Given the description of an element on the screen output the (x, y) to click on. 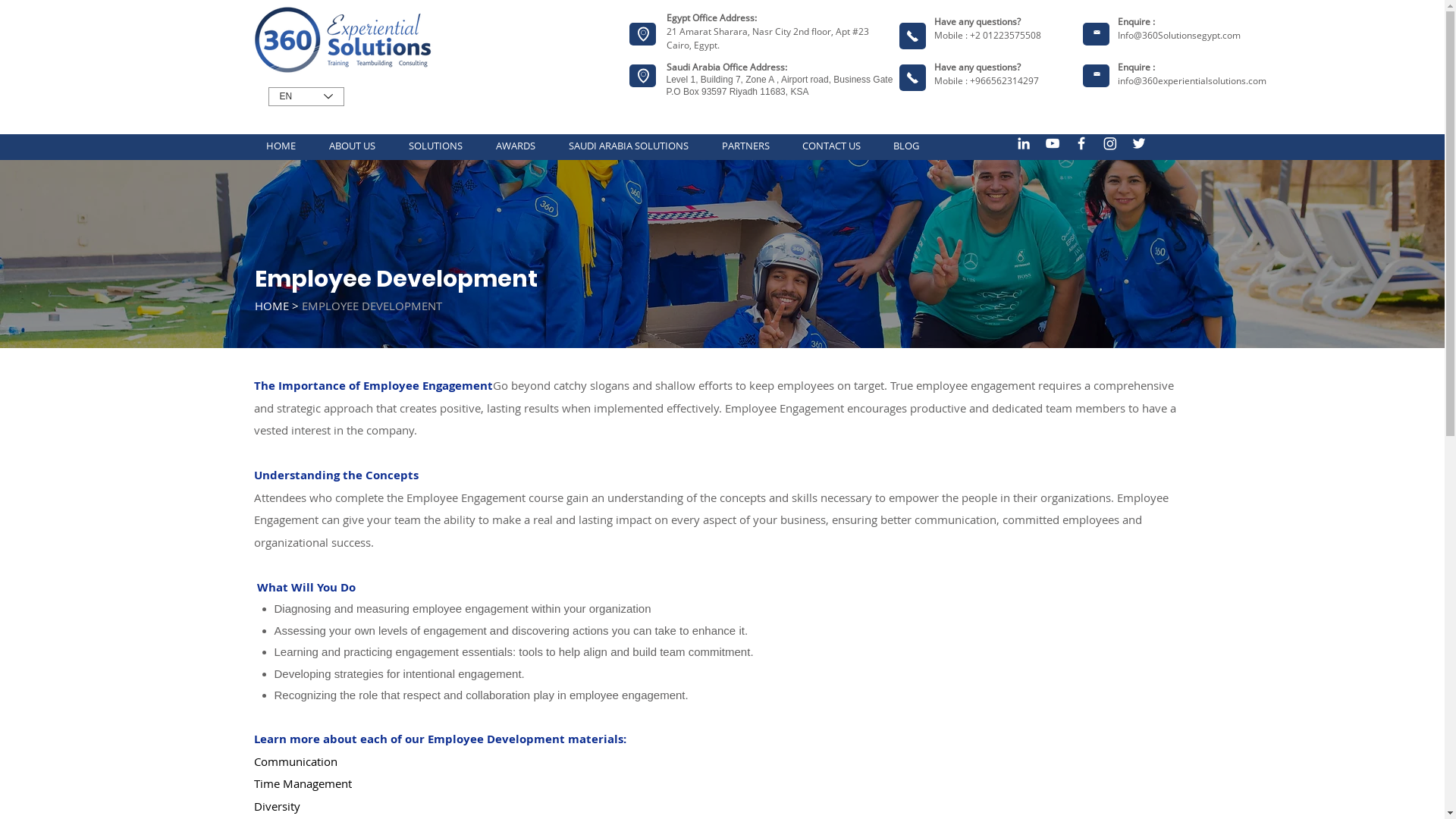
ABOUT US Element type: text (352, 145)
SAUDI ARABIA SOLUTIONS Element type: text (628, 145)
360 Experiential Solutions Element type: hover (346, 39)
Info@360Solutionsegypt.com Element type: text (1178, 34)
CONTACT US Element type: text (830, 145)
info@360experientialsolutions.com Element type: text (1191, 80)
SOLUTIONS Element type: text (434, 145)
HOME > Element type: text (276, 305)
AWARDS Element type: text (515, 145)
PARTNERS Element type: text (745, 145)
HOME Element type: text (279, 145)
BLOG Element type: text (905, 145)
